Given the description of an element on the screen output the (x, y) to click on. 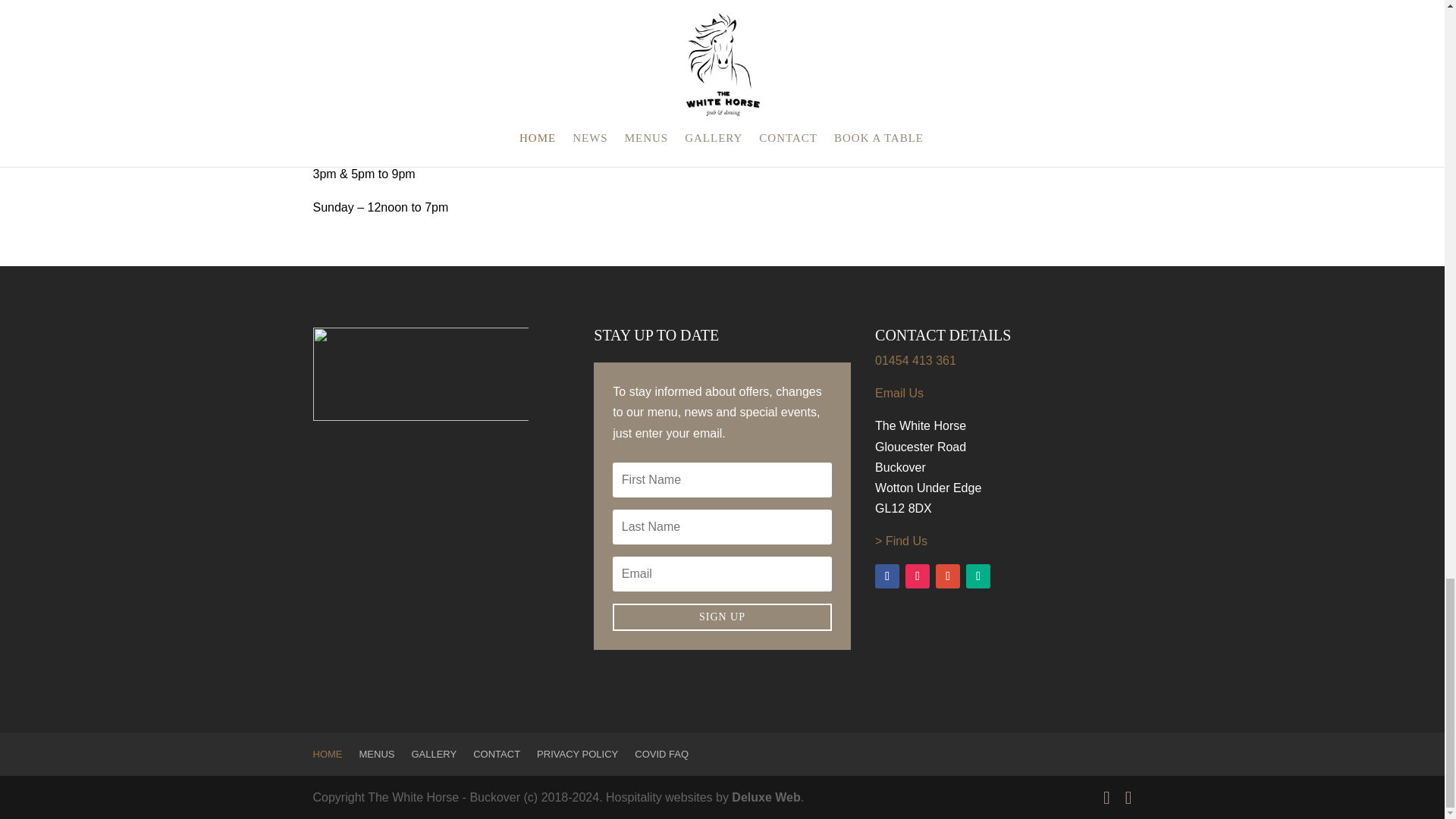
Follow on Instagram (917, 576)
Click here to book (572, 8)
FOOD TIMES: (355, 128)
Follow on TripAdvisor (978, 576)
01454 413 361 (915, 359)
MENUS (767, 46)
Follow on google-plus (947, 576)
01454 413 361 (618, 73)
SIGN UP (721, 616)
Follow on Facebook (887, 576)
